Given the description of an element on the screen output the (x, y) to click on. 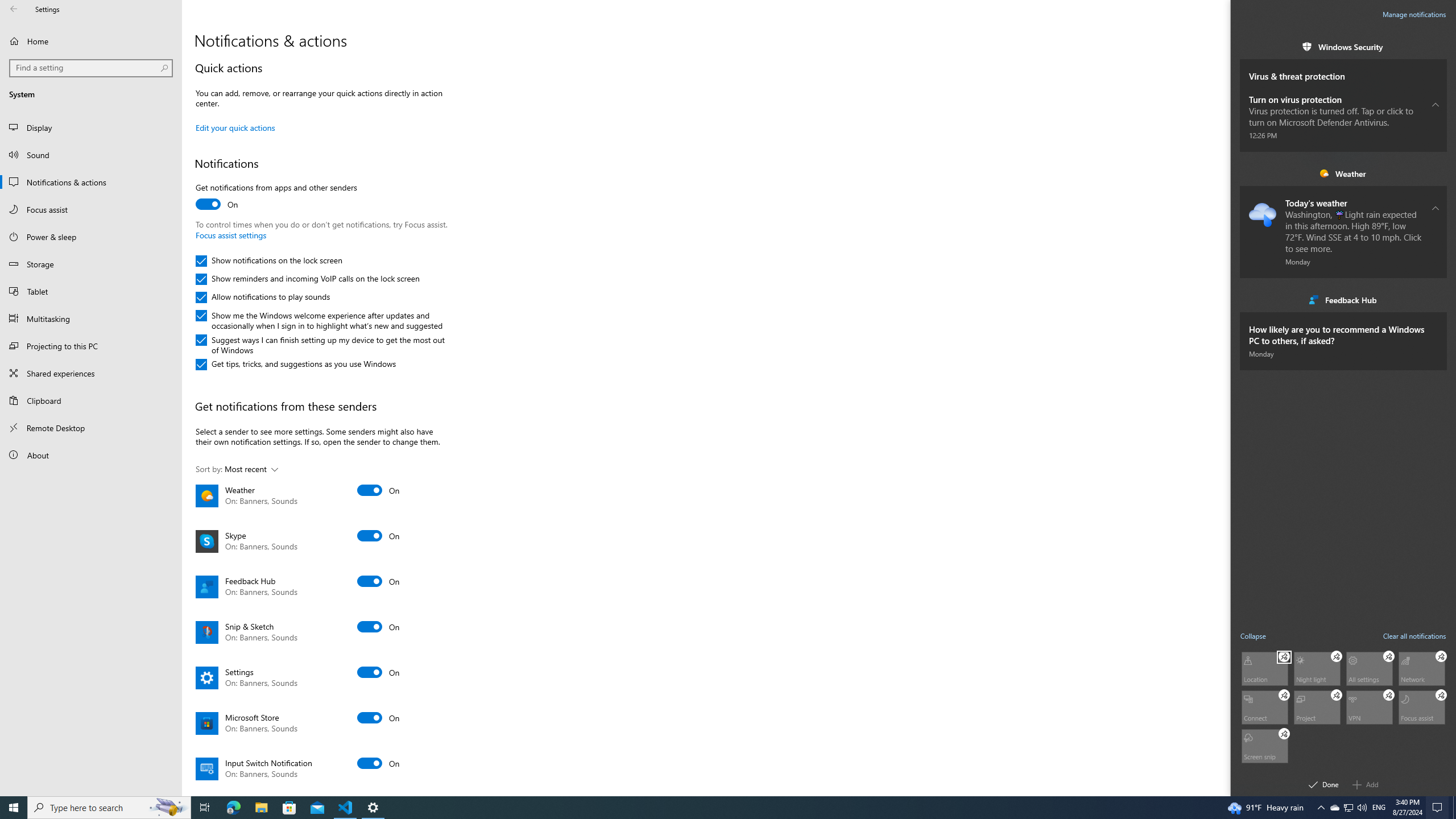
Screen snip Unpin (1284, 733)
Microsoft Edge (233, 807)
Clear this notification (1435, 322)
Collapse quick actions (1253, 635)
Focus assist Unpin (1441, 695)
Clear all notifications for Weather (1435, 173)
Tray Input Indicator - English (United States) (1378, 807)
Task View (204, 807)
Done editing quick actions (1324, 784)
Location Unpin (1284, 655)
Action Center, No new notifications (1439, 807)
File Explorer (261, 807)
